Given the description of an element on the screen output the (x, y) to click on. 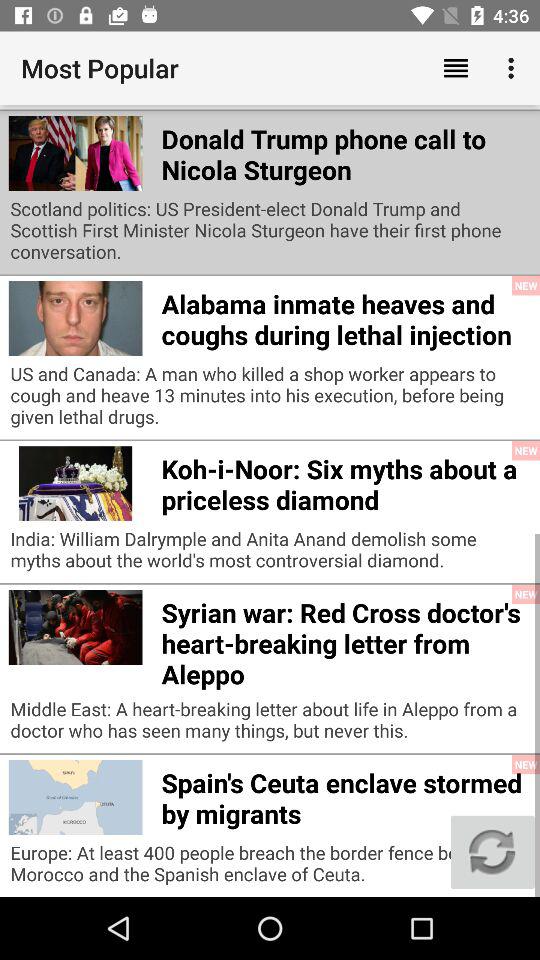
turn off the item below the new app (492, 851)
